Given the description of an element on the screen output the (x, y) to click on. 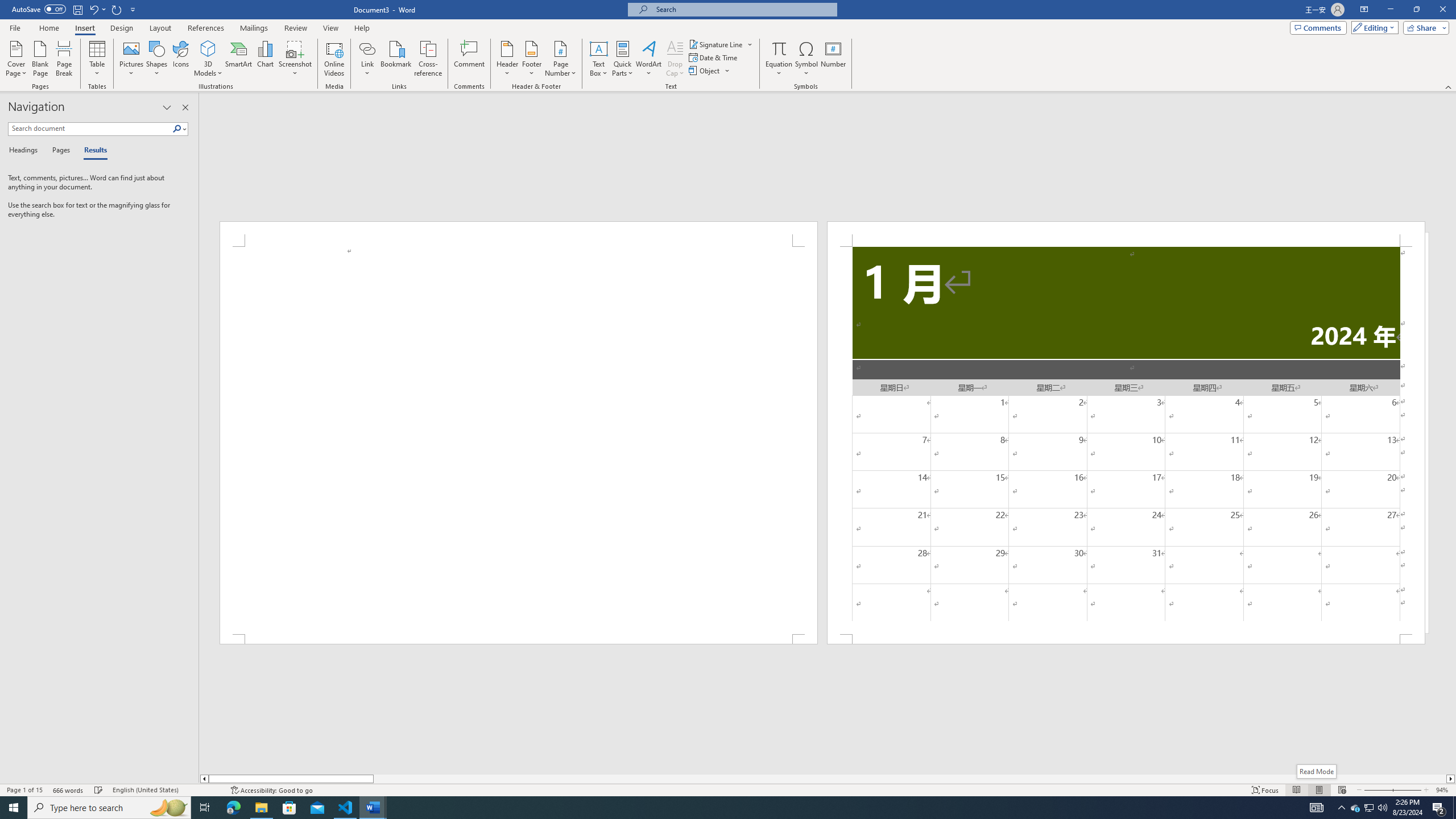
Number... (833, 58)
Page 1 content (518, 439)
Page Break (63, 58)
File Tab (15, 27)
Screenshot (295, 58)
Cover Page (16, 58)
Page Number (560, 58)
Column right (1450, 778)
Word Count 666 words (68, 790)
Column left (203, 778)
Search (177, 128)
Focus  (1265, 790)
Signature Line (716, 44)
Help (361, 28)
